Given the description of an element on the screen output the (x, y) to click on. 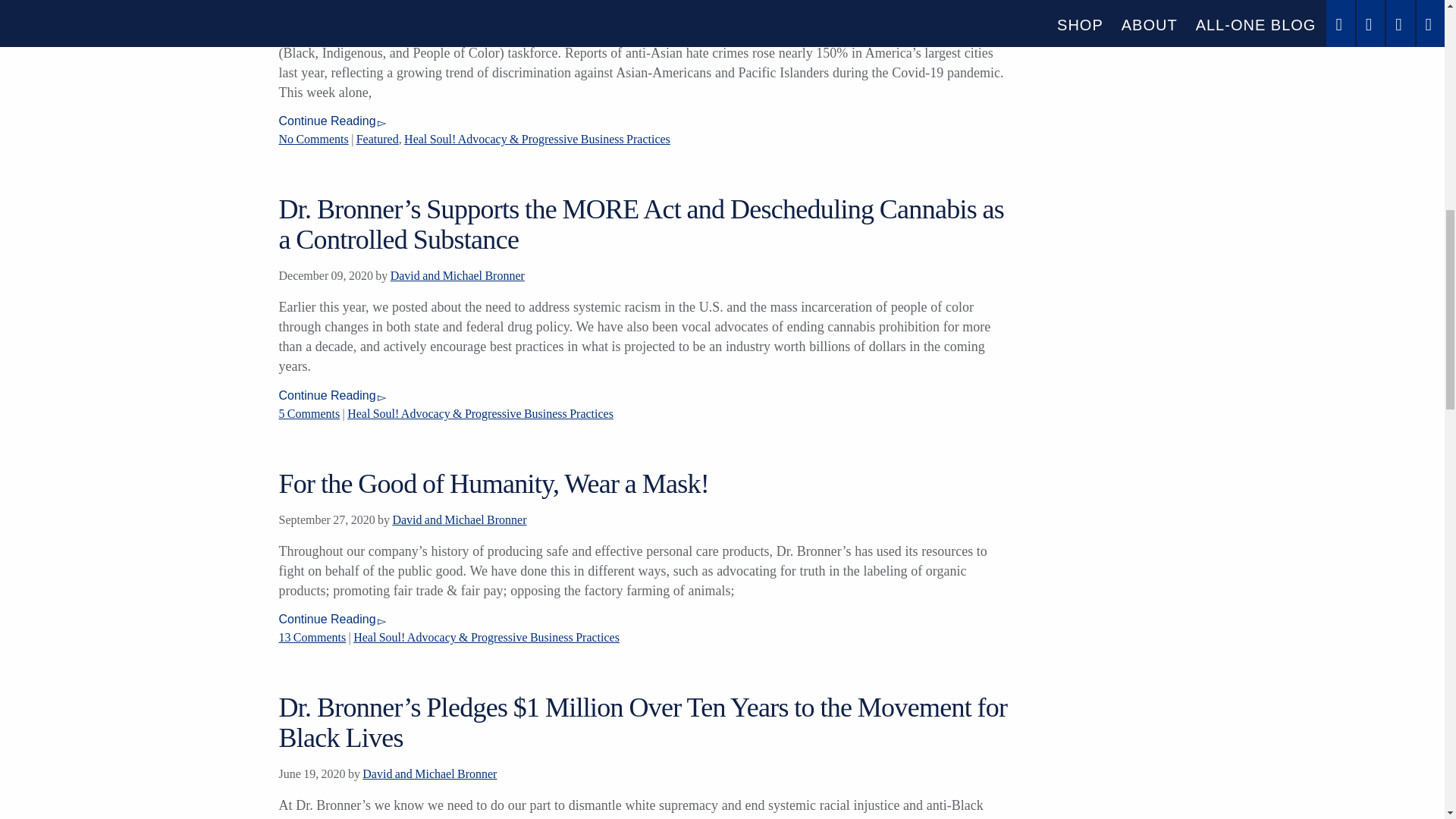
Posts by David and Michael Bronner (458, 519)
5 Comments (309, 413)
David and Michael Bronner (439, 4)
Posts by David and Michael Bronner (429, 773)
No Comments (314, 138)
Continue Reading (332, 395)
Featured (377, 138)
Posts by David and Michael Bronner (457, 275)
Continue Reading (332, 120)
Posts by David and Michael Bronner (439, 4)
